Given the description of an element on the screen output the (x, y) to click on. 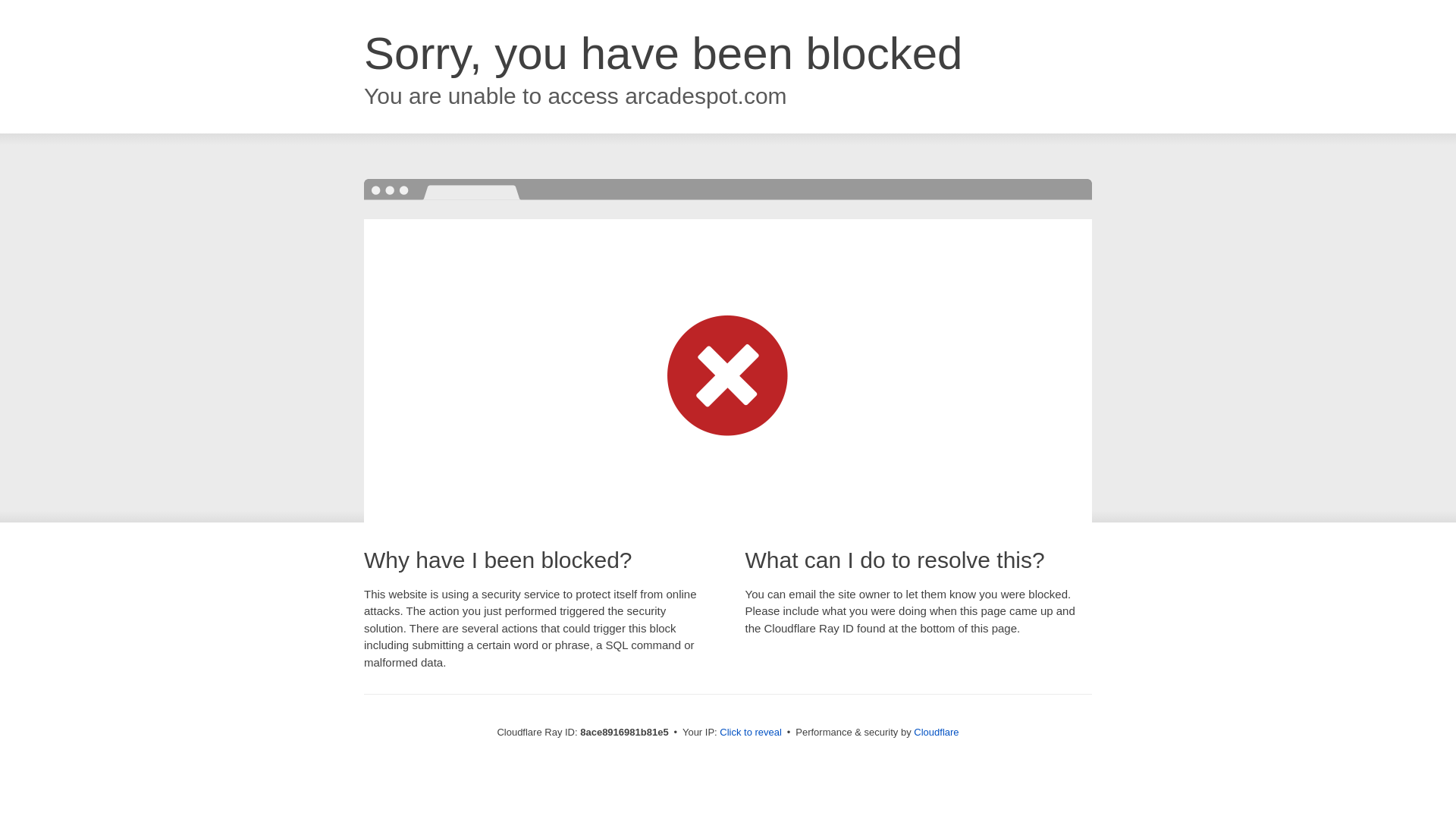
Cloudflare (936, 731)
Click to reveal (750, 732)
